Given the description of an element on the screen output the (x, y) to click on. 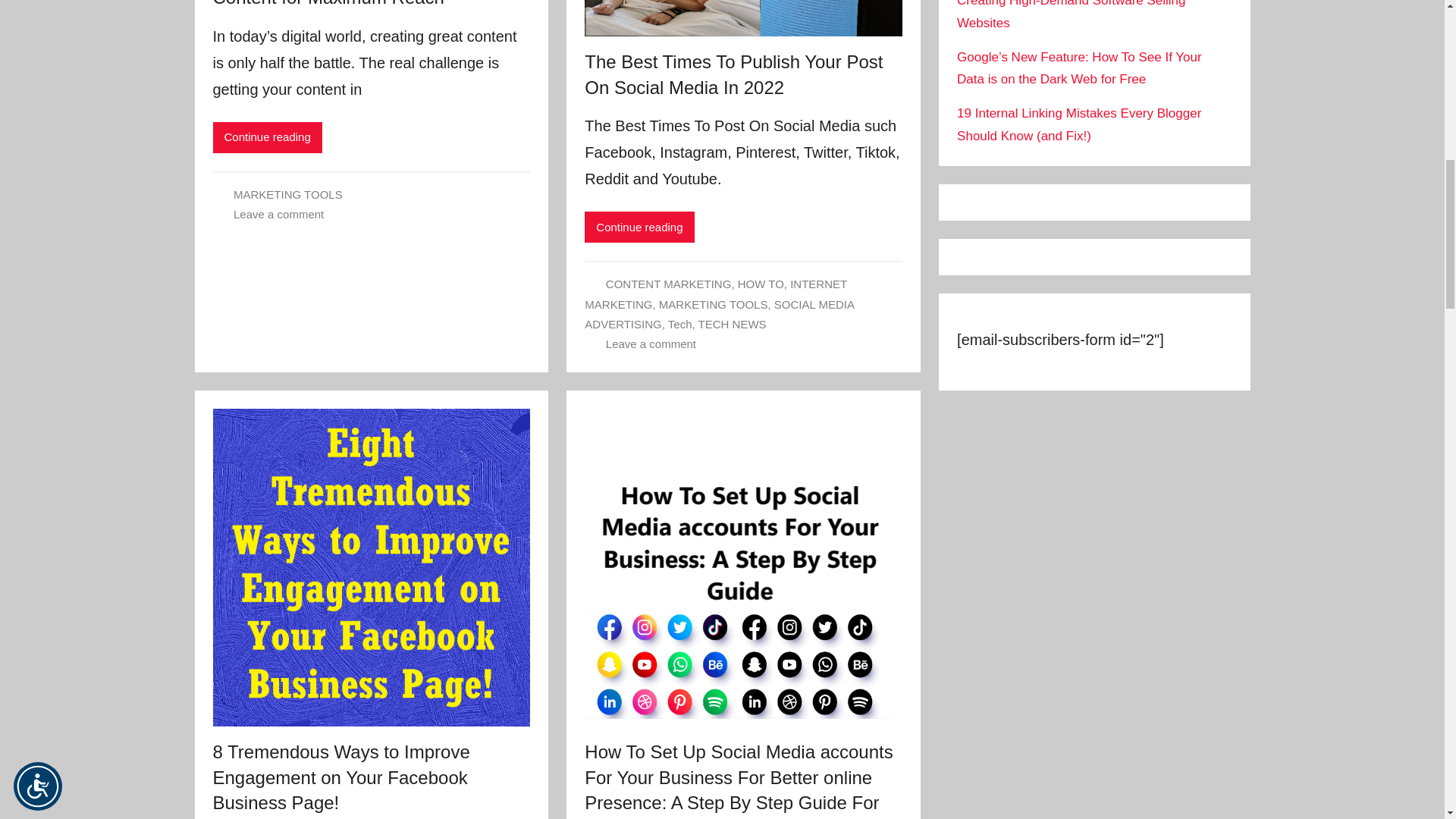
Continue reading (639, 226)
MARKETING TOOLS (713, 304)
MARKETING TOOLS (287, 194)
TECH NEWS (732, 323)
SOCIAL MEDIA ADVERTISING (719, 314)
INTERNET MARKETING (716, 293)
HOW TO (761, 283)
The Best Times To Publish Your Post On Social Media In 2022 (733, 74)
Leave a comment (650, 343)
Tech (680, 323)
CONTENT MARKETING (668, 283)
Continue reading (266, 137)
Leave a comment (277, 214)
